Given the description of an element on the screen output the (x, y) to click on. 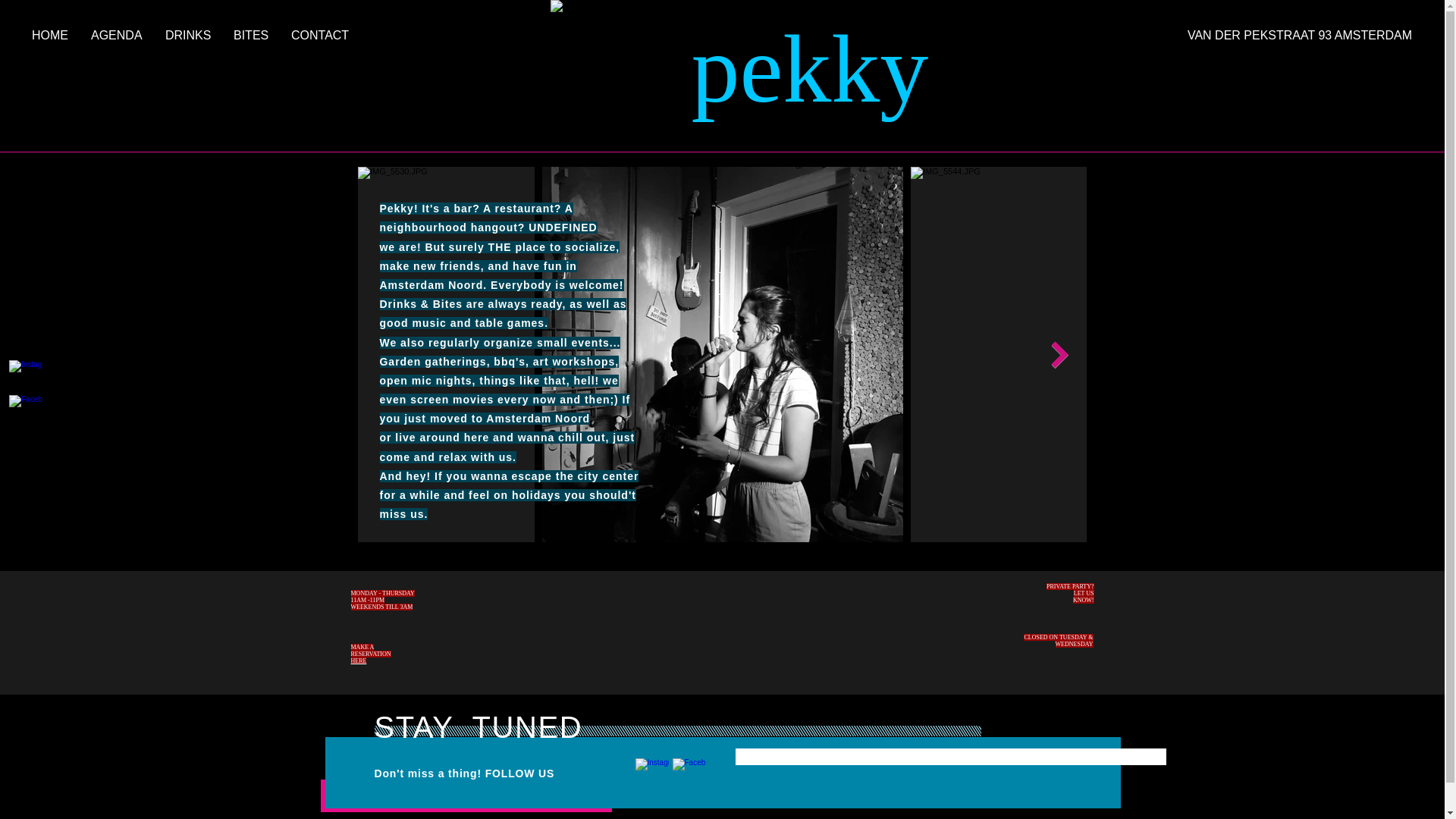
CONTACT (319, 35)
BITES (250, 35)
HOME (50, 35)
AGENDA (117, 35)
VAN DER PEKSTRAAT 93 AMSTERDAM (1268, 35)
HERE (358, 660)
DRINKS (188, 35)
